Given the description of an element on the screen output the (x, y) to click on. 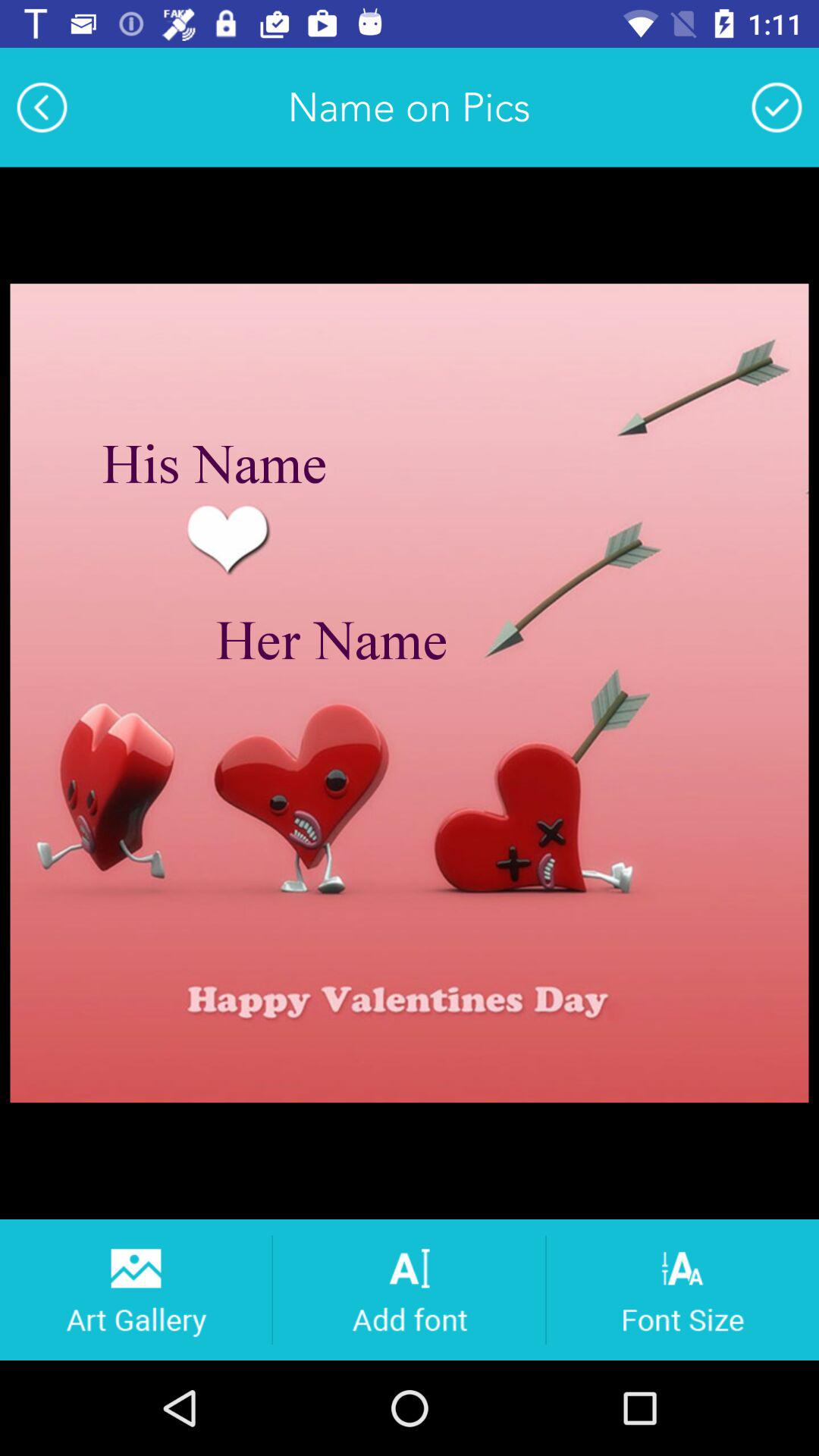
add font (409, 1289)
